Given the description of an element on the screen output the (x, y) to click on. 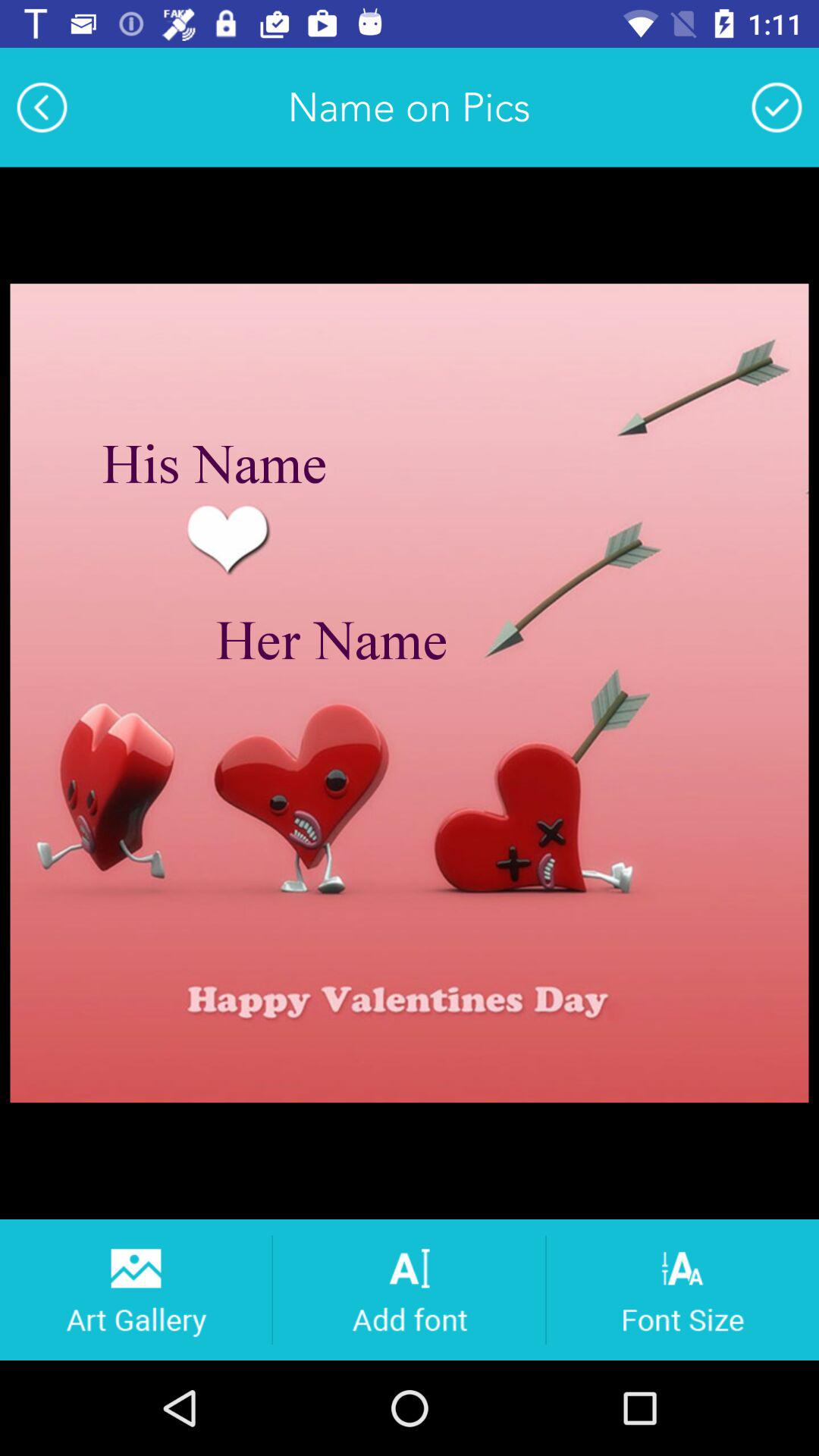
add font (409, 1289)
